Given the description of an element on the screen output the (x, y) to click on. 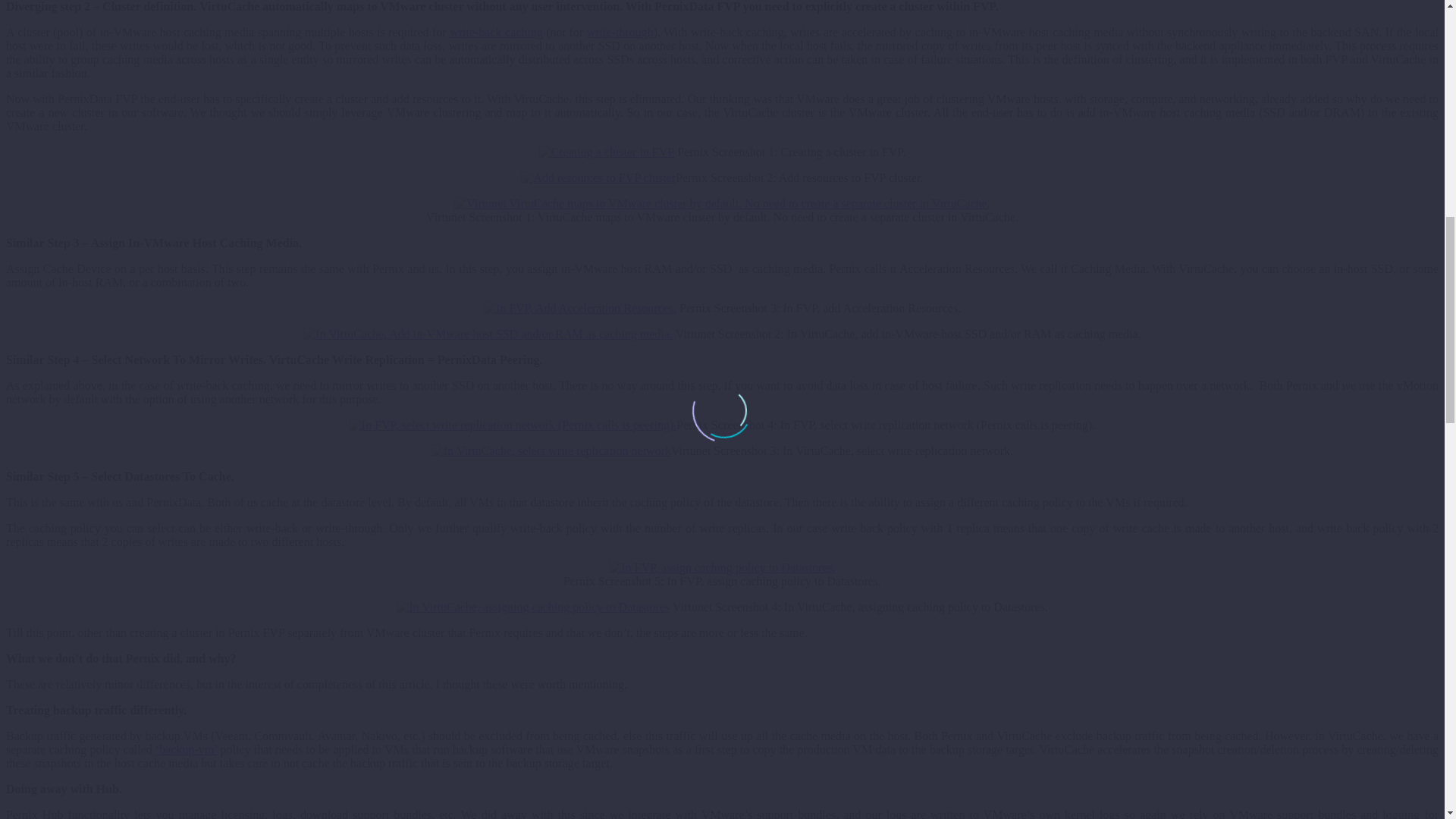
Creating a cluster in FVP (606, 151)
write-back caching (496, 31)
write-through (619, 31)
